Given the description of an element on the screen output the (x, y) to click on. 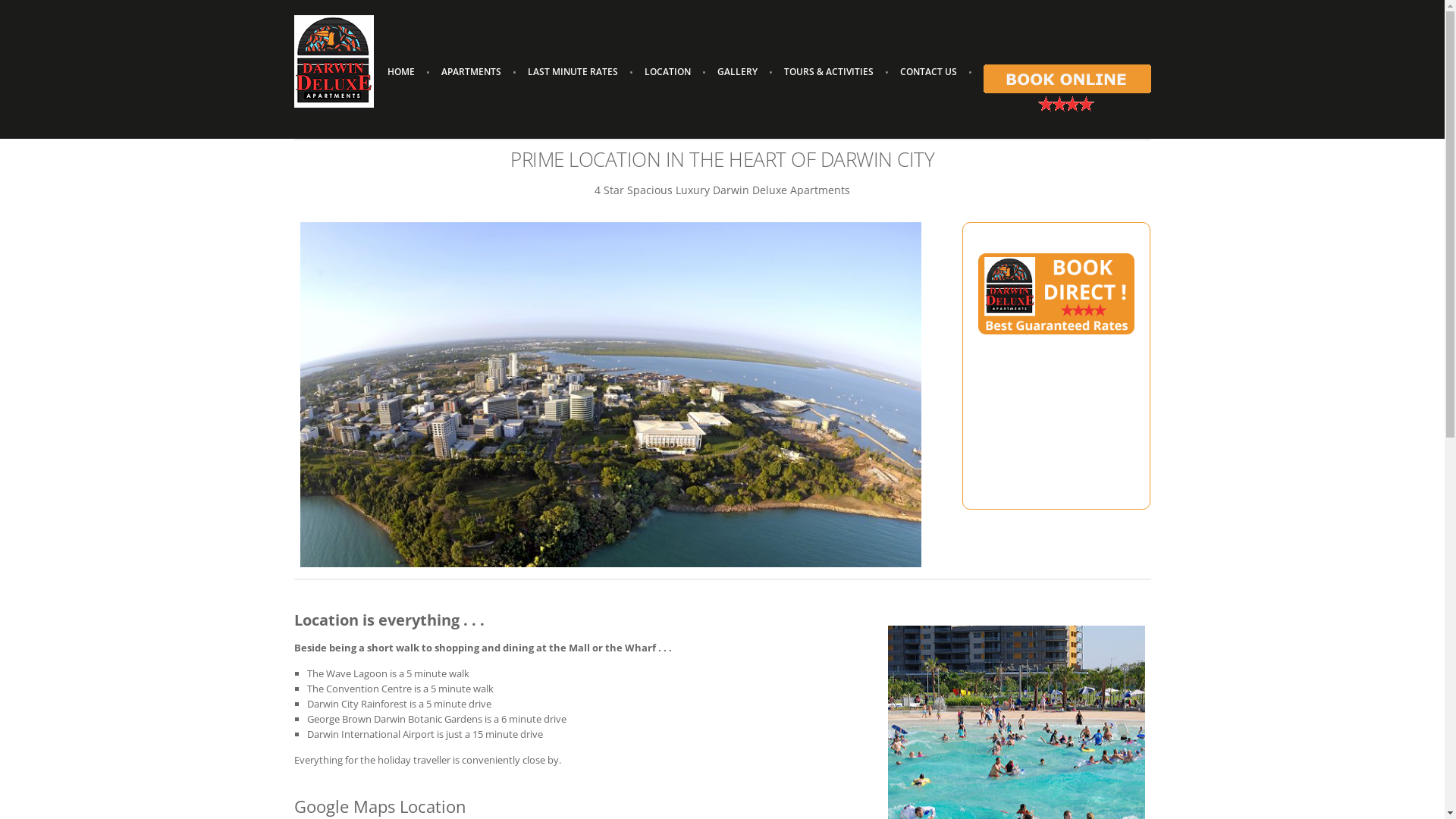
Apartments Element type: text (617, 560)
APARTMENTS Element type: text (470, 71)
TOURS & ACTIVITIES Element type: text (827, 71)
LAST MINUTE RATES Element type: text (571, 71)
HOME Element type: text (401, 71)
Gallery Element type: text (605, 605)
Location Element type: text (610, 590)
Contact Us Element type: text (615, 636)
Home Element type: text (604, 545)
LOCATION Element type: text (666, 71)
Down Under OnLine Element type: text (758, 735)
CONTACT US Element type: text (928, 71)
2 BEDROOM APARTMENTS VISIT Element type: text (943, 516)
Tours & Activities Element type: text (629, 620)
GALLERY Element type: text (736, 71)
enquiries@darwindeluxeapartments.com.au Element type: text (394, 631)
Last Minute Rates Element type: text (630, 575)
